Given the description of an element on the screen output the (x, y) to click on. 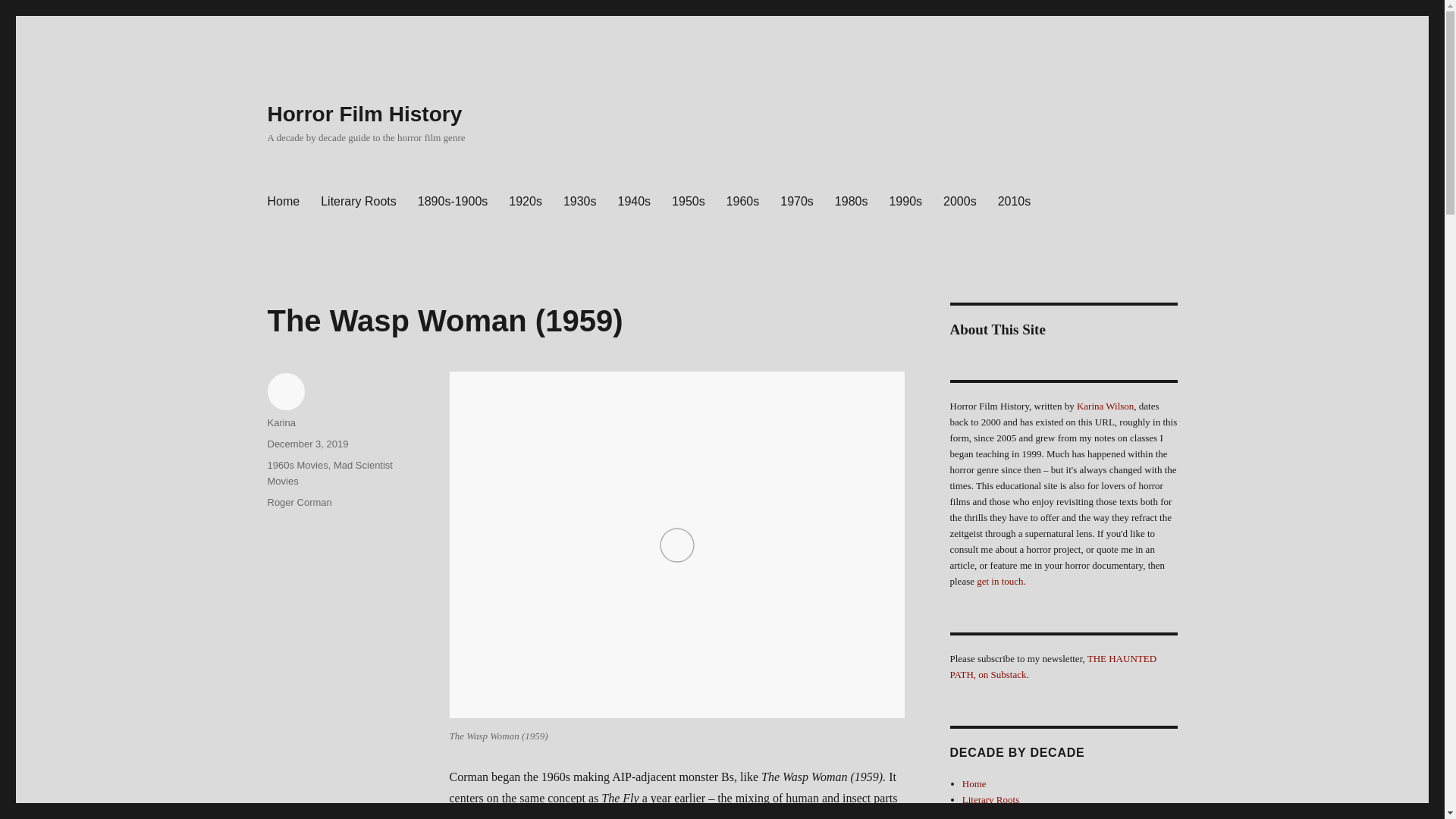
1890s-1900s (453, 201)
Roger Corman (298, 501)
Mad Scientist Movies (329, 472)
Literary Roots (990, 799)
Karina Wilson (1105, 405)
2000s (960, 201)
1960s (743, 201)
2010s (1014, 201)
1920s (525, 201)
December 3, 2019 (306, 443)
